Given the description of an element on the screen output the (x, y) to click on. 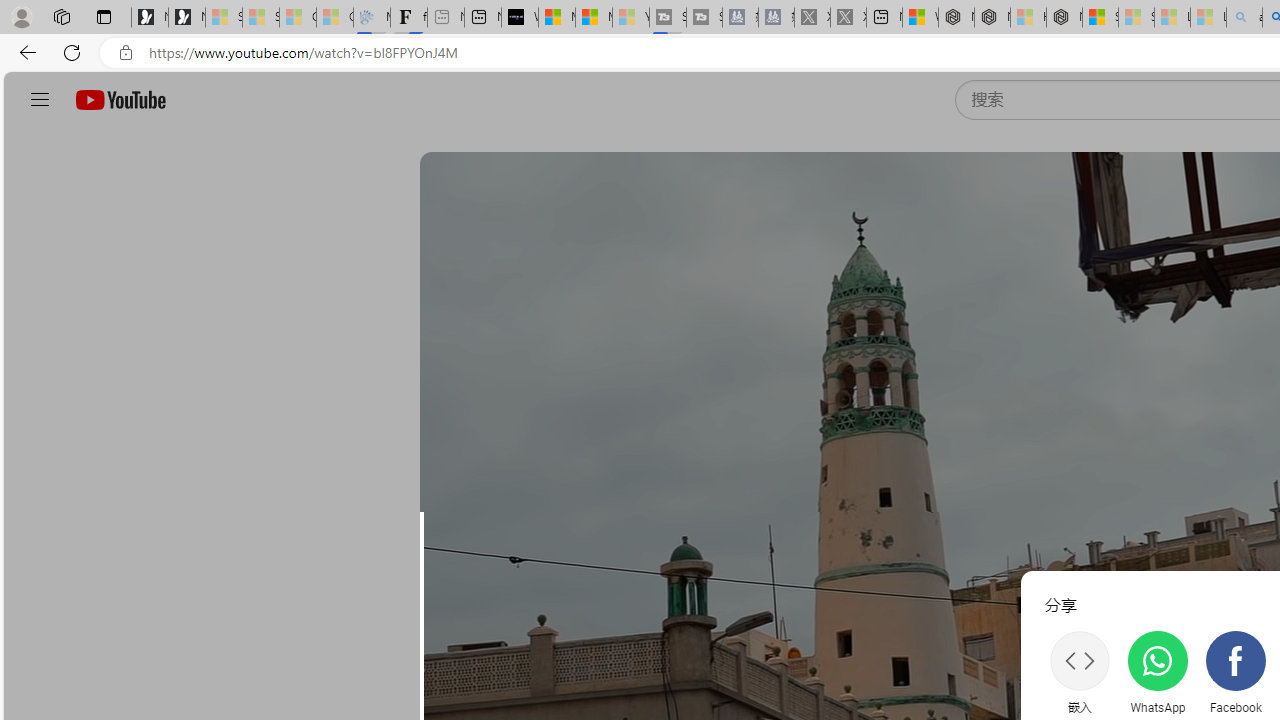
Newsletter Sign Up (186, 17)
Nordace - Nordace Siena Is Not An Ordinary Backpack (1064, 17)
Facebook (1235, 672)
amazon - Search - Sleeping (1244, 17)
